Given the description of an element on the screen output the (x, y) to click on. 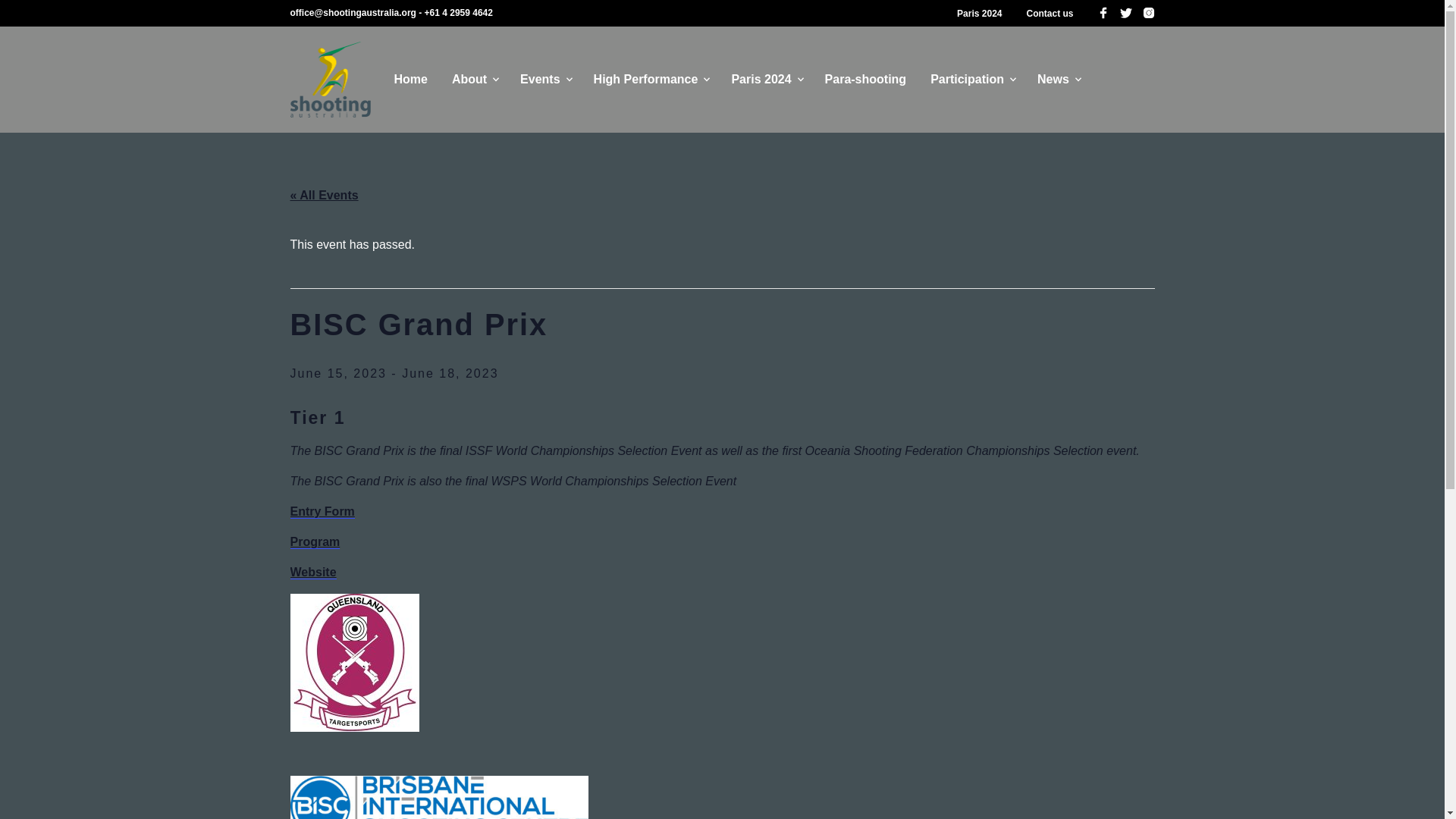
Events (539, 79)
About (469, 79)
Home (410, 79)
Contact us (1049, 13)
Paris 2024 (979, 13)
